Given the description of an element on the screen output the (x, y) to click on. 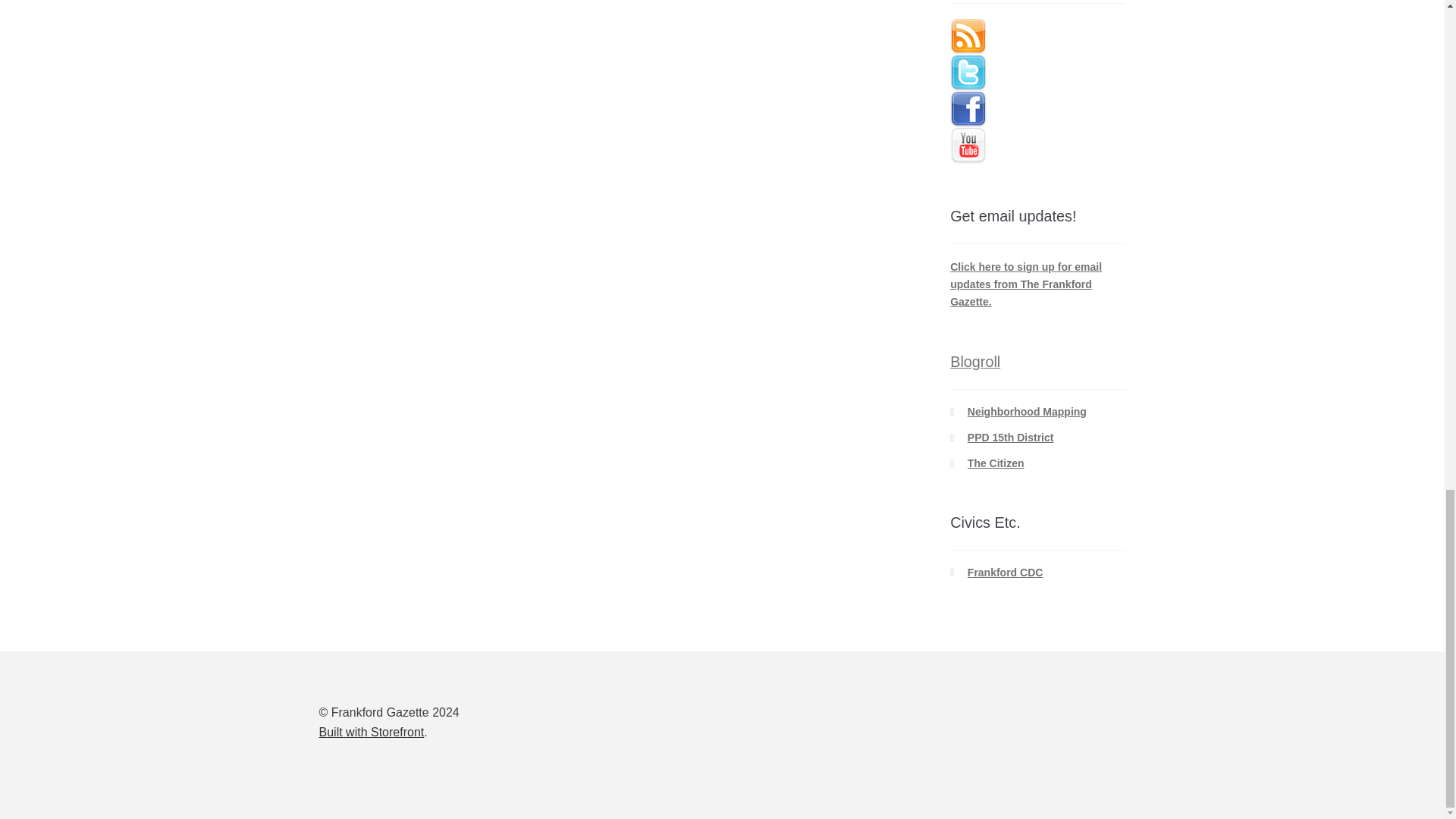
Frankford Community Development Corporation (1005, 572)
Philadelphia Police 15th district list of community meetings (1011, 437)
What neighborhood am I in? (1027, 411)
